Given the description of an element on the screen output the (x, y) to click on. 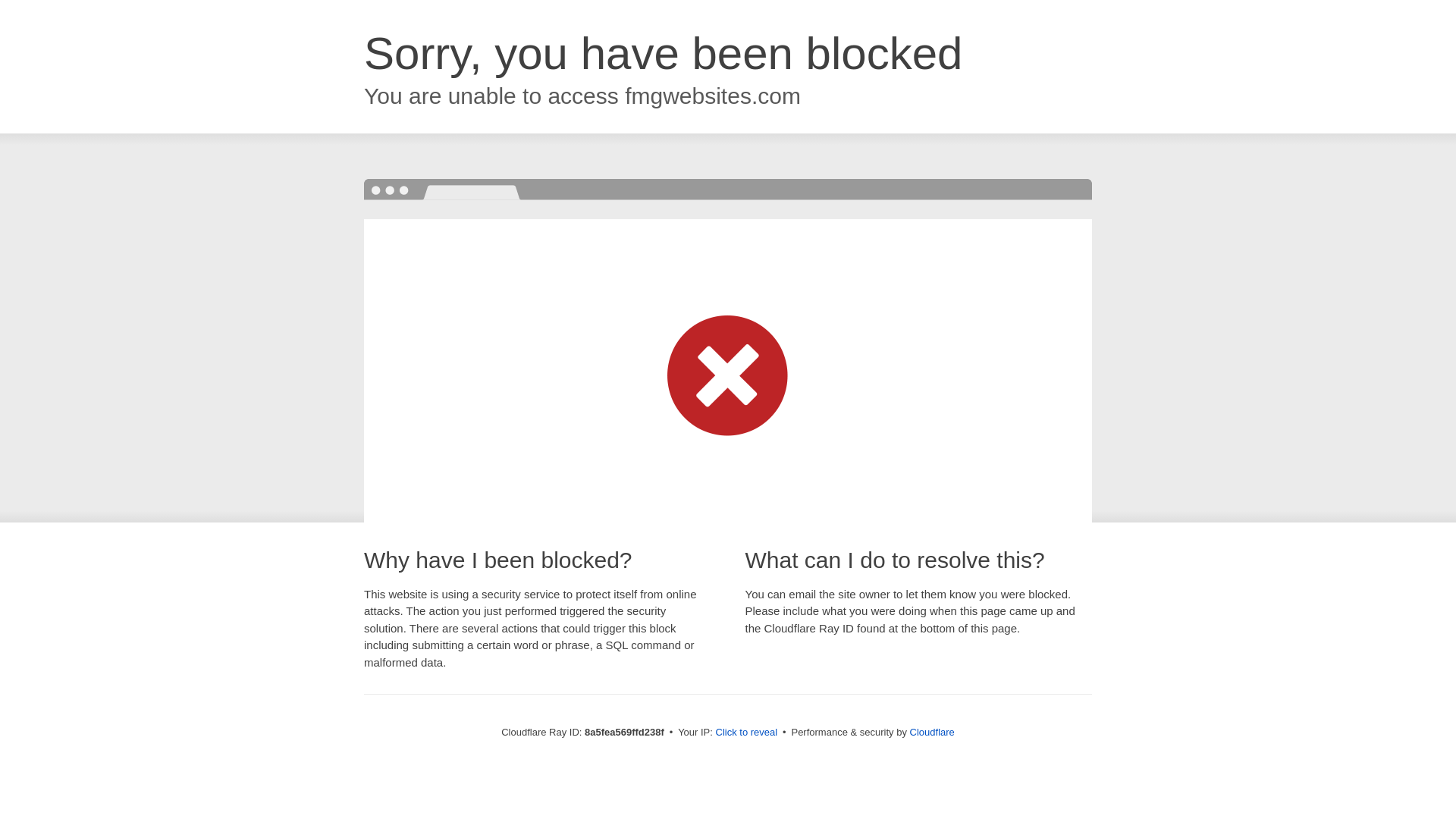
Click to reveal (746, 732)
Cloudflare (932, 731)
